Given the description of an element on the screen output the (x, y) to click on. 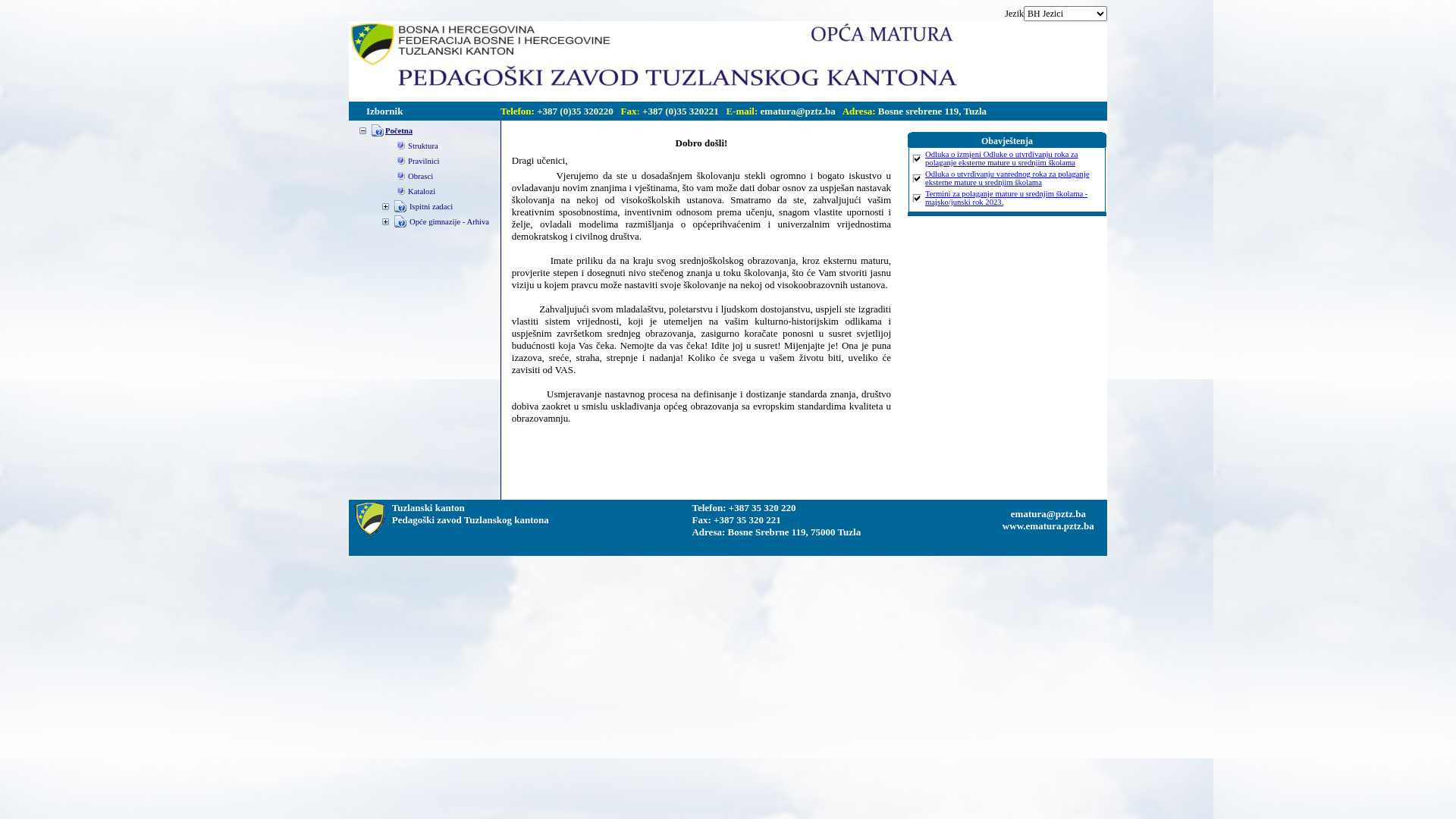
Pravilnici Element type: text (423, 160)
Struktura Element type: text (422, 145)
Katalozi Element type: text (421, 190)
Obrasci Element type: text (420, 175)
ematura@pztz.ba Element type: text (1047, 513)
